Given the description of an element on the screen output the (x, y) to click on. 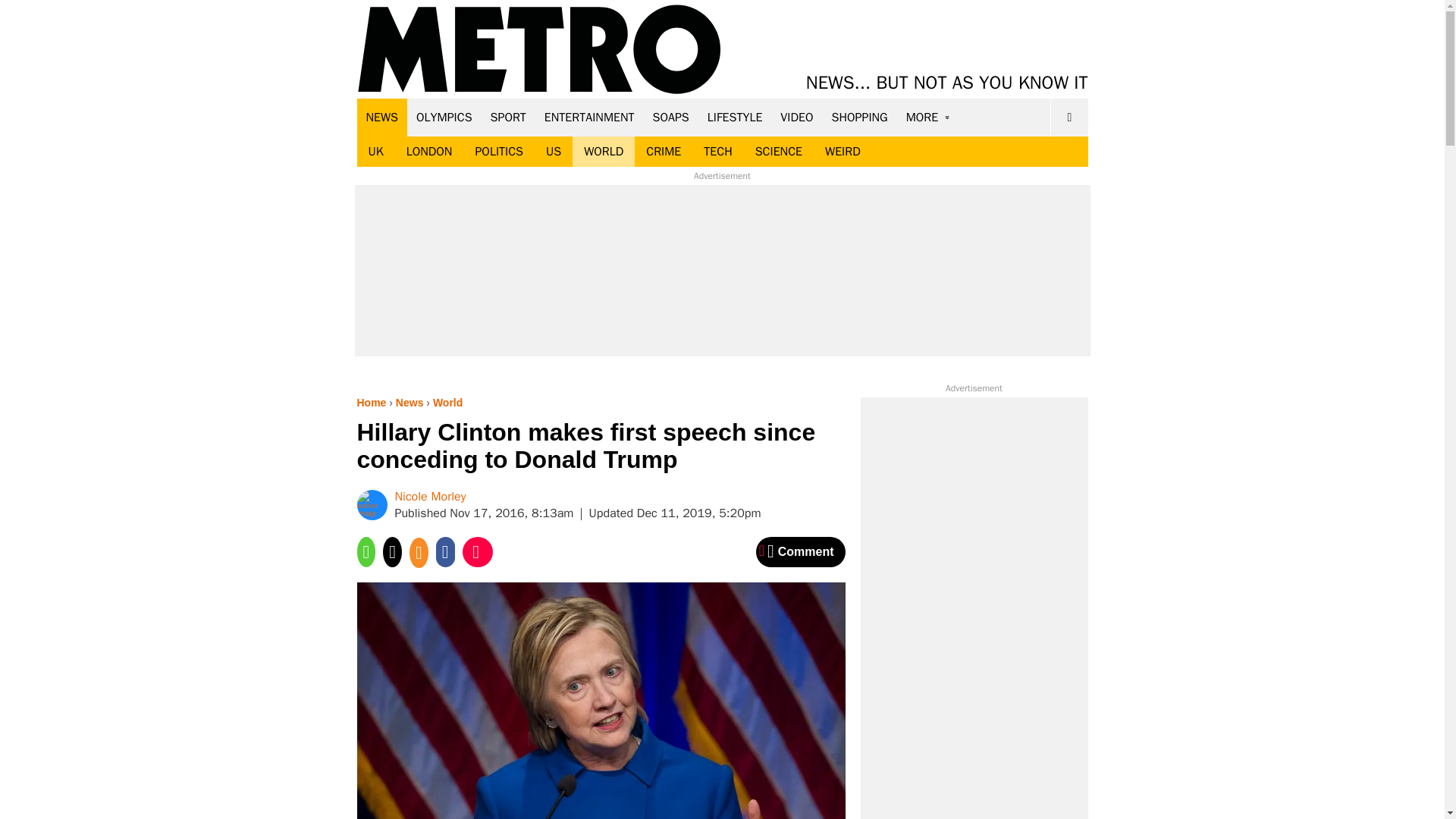
SPORT (508, 117)
POLITICS (498, 151)
SOAPS (670, 117)
WEIRD (842, 151)
UK (375, 151)
ENTERTAINMENT (589, 117)
LONDON (429, 151)
SCIENCE (778, 151)
Metro (539, 50)
LIFESTYLE (734, 117)
TECH (717, 151)
WORLD (603, 151)
CRIME (663, 151)
OLYMPICS (444, 117)
US (553, 151)
